Given the description of an element on the screen output the (x, y) to click on. 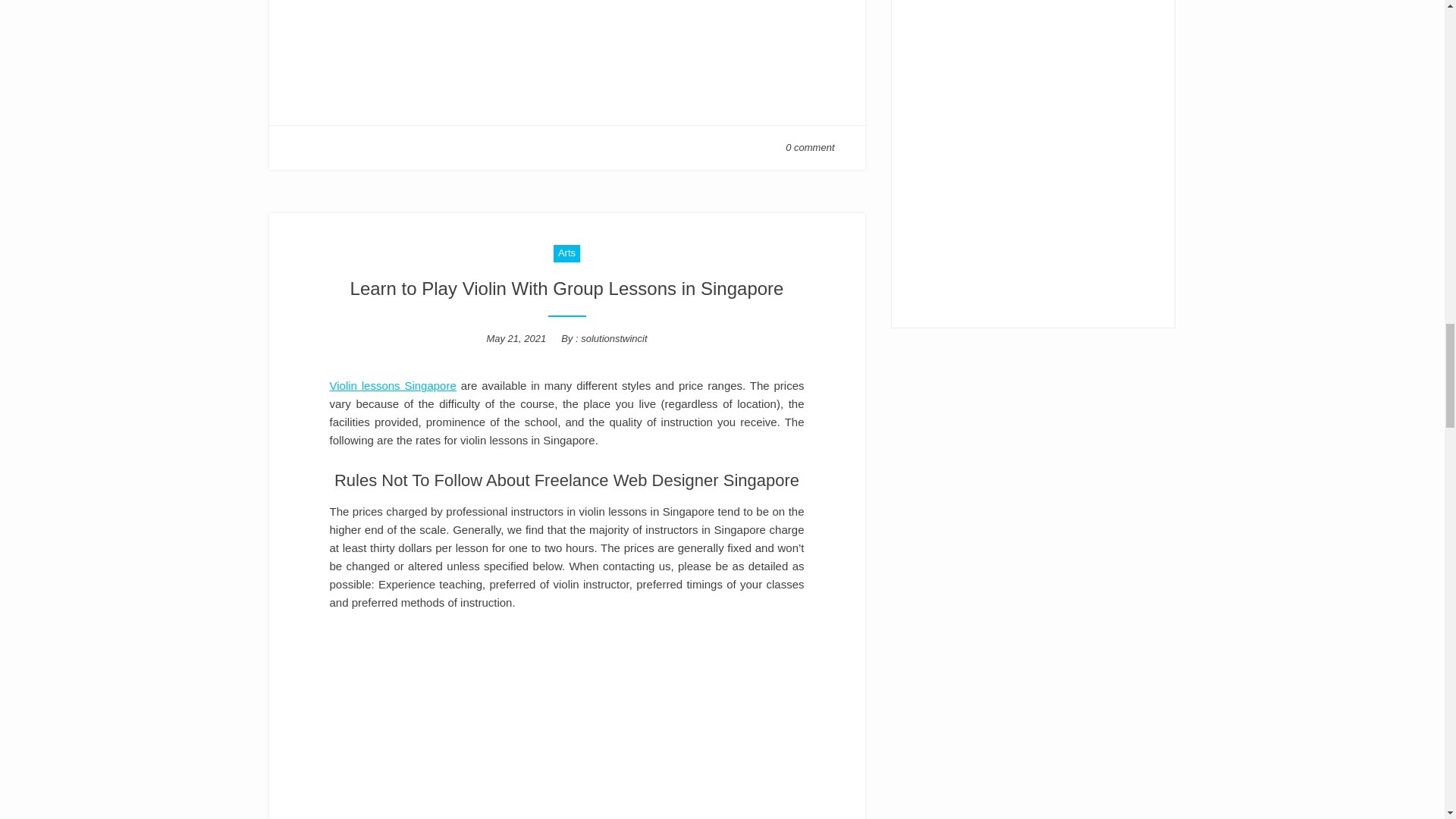
May 21, 2021 (516, 337)
Learn to Play Violin With Group Lessons in Singapore (567, 288)
Arts (566, 253)
0 comment (810, 147)
solutionstwincit (613, 337)
